Given the description of an element on the screen output the (x, y) to click on. 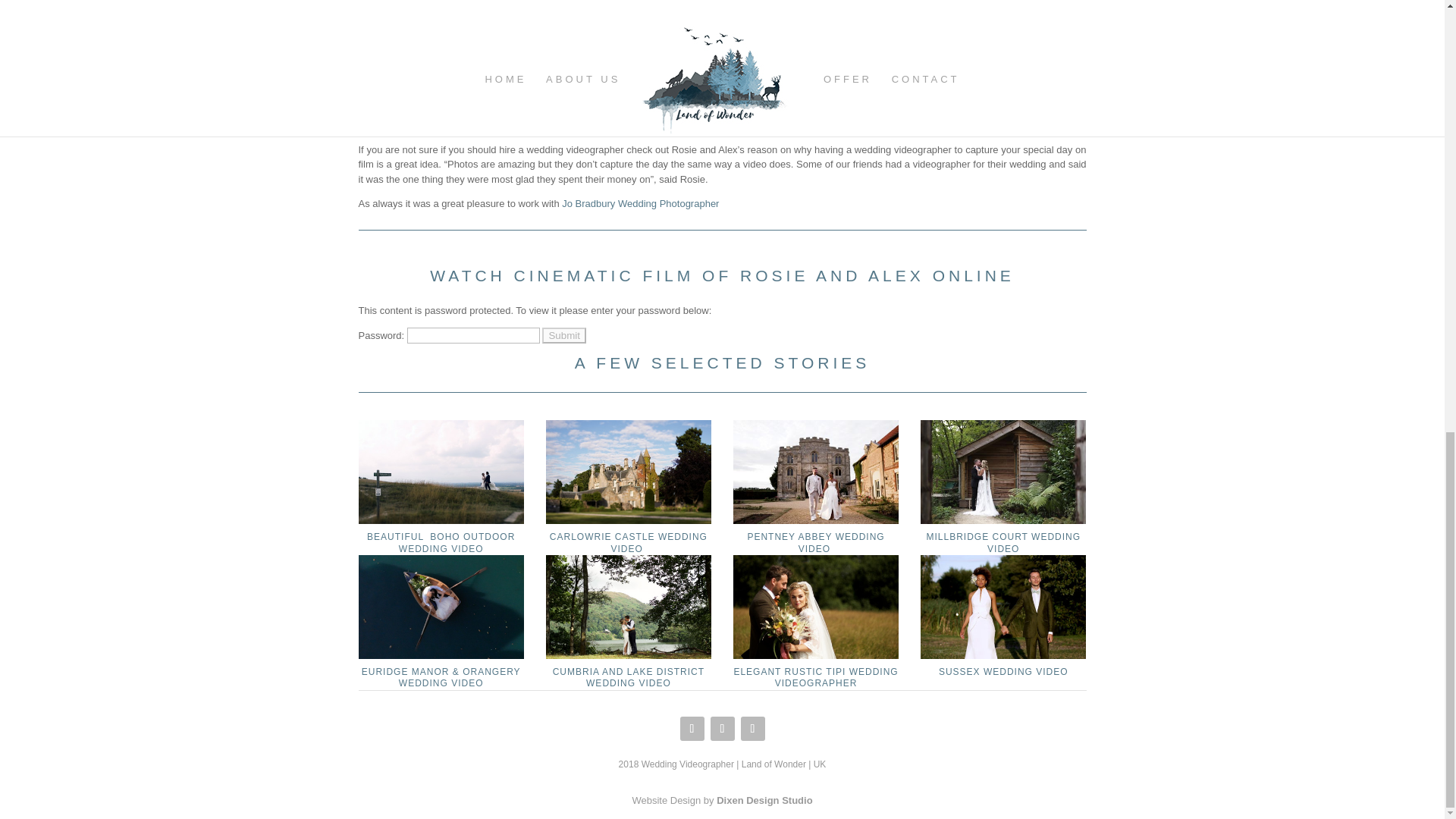
CARLOWRIE CASTLE WEDDING VIDEO  (628, 542)
CUMBRIA AND LAKE DISTRICT WEDDING VIDEO (628, 606)
Submit (563, 335)
MILLBRIDGE COURT WEDDING VIDEO (1003, 542)
BEAUTIFUL  BOHO OUTDOOR WEDDING VIDEO (440, 542)
CUMBRIA AND LAKE DISTRICT WEDDING VIDEO (628, 677)
ELEGANT RUSTIC TIPI WEDDING VIDEOGRAPHER (815, 677)
PENTNEY ABBEY WEDDING VIDEO  (814, 542)
Dixen Design Studio (764, 799)
ELEGANT RUSTIC TIPI WEDDING VIDEOGRAPHER (815, 677)
ELEGANT RUSTIC TIPI WEDDING VIDEOGRAPHER (815, 606)
